Given the description of an element on the screen output the (x, y) to click on. 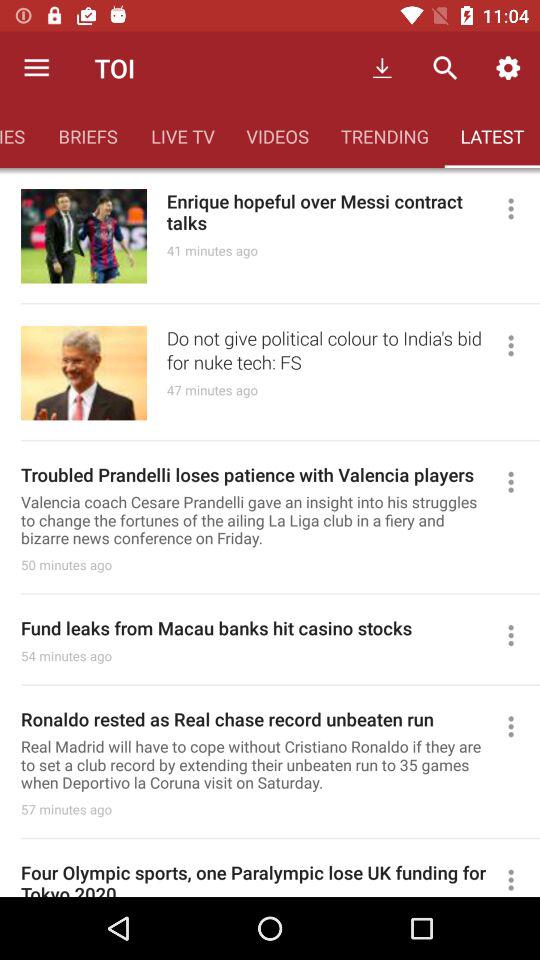
show more options (519, 345)
